Given the description of an element on the screen output the (x, y) to click on. 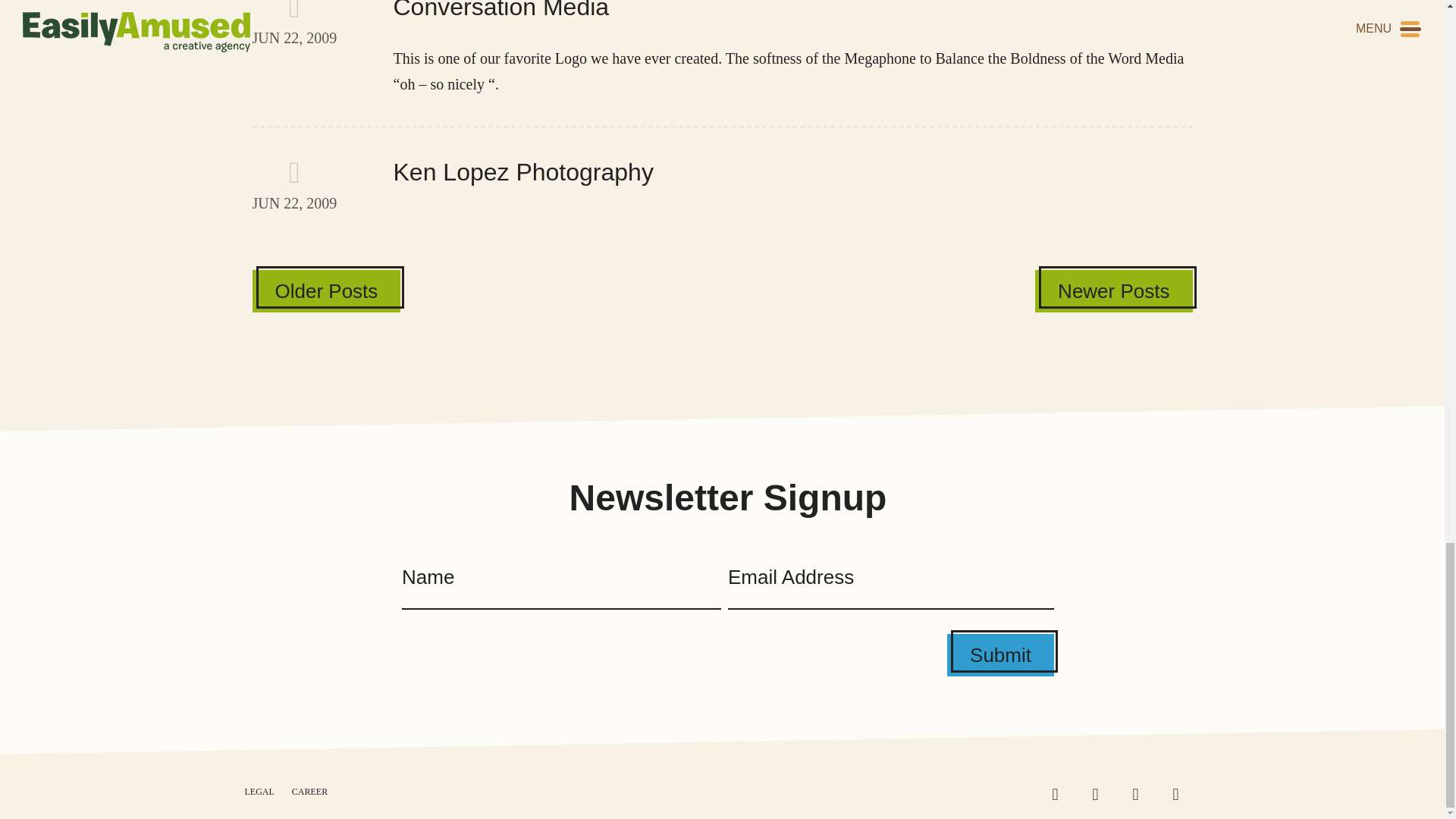
Older Posts (721, 183)
GitHub (325, 291)
Newer Posts (1181, 794)
Twitter (1113, 291)
Submit (1101, 794)
Facebook (1000, 654)
CAREER (1060, 794)
Dribbble (309, 791)
LEGAL (1140, 794)
